Given the description of an element on the screen output the (x, y) to click on. 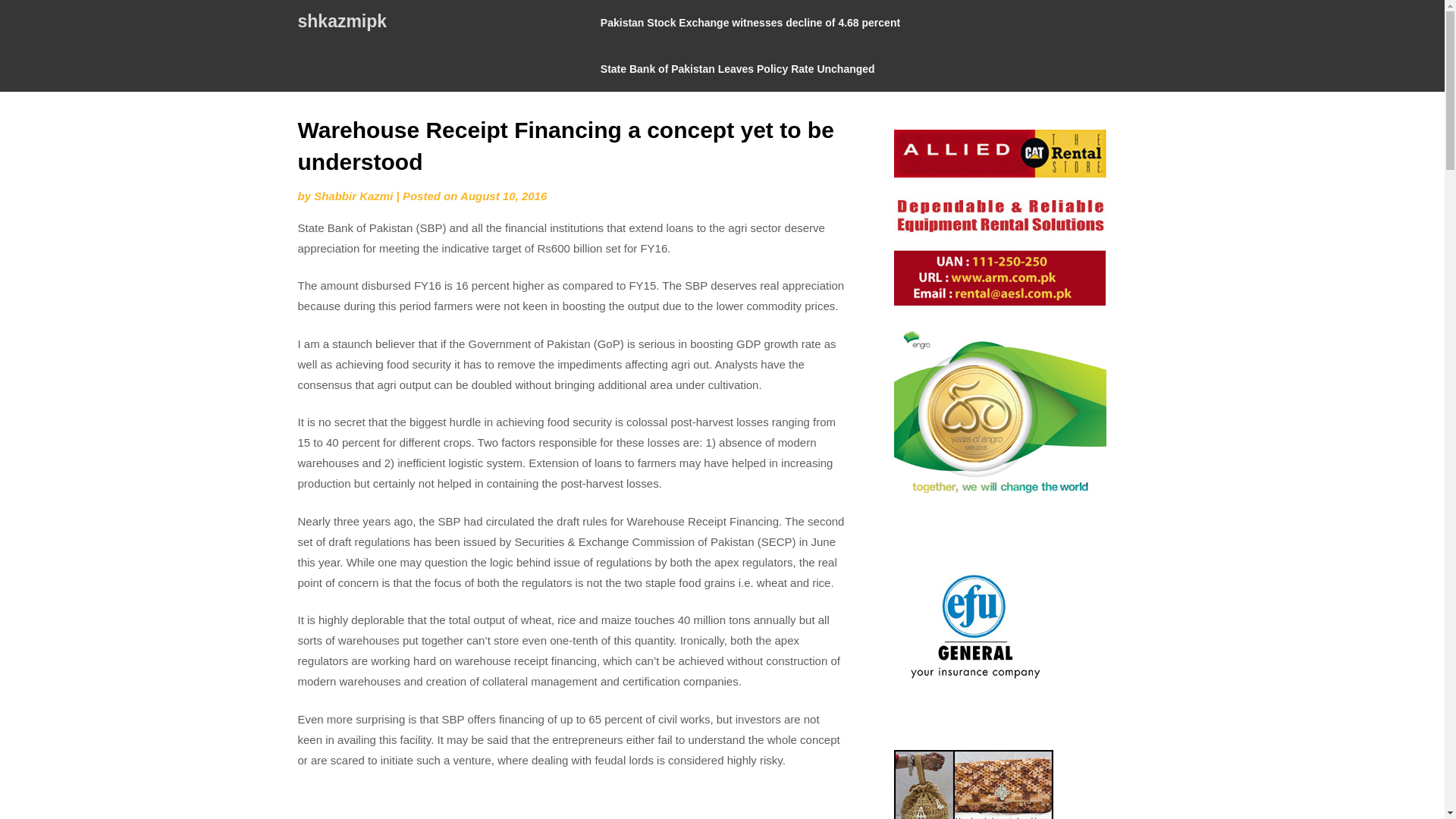
August 10, 2016 (503, 195)
Pakistan Stock Exchange witnesses decline of 4.68 percent (750, 22)
Shabbir Kazmi (353, 195)
State Bank of Pakistan Leaves Policy Rate Unchanged (737, 67)
shkazmipk (342, 21)
